Given the description of an element on the screen output the (x, y) to click on. 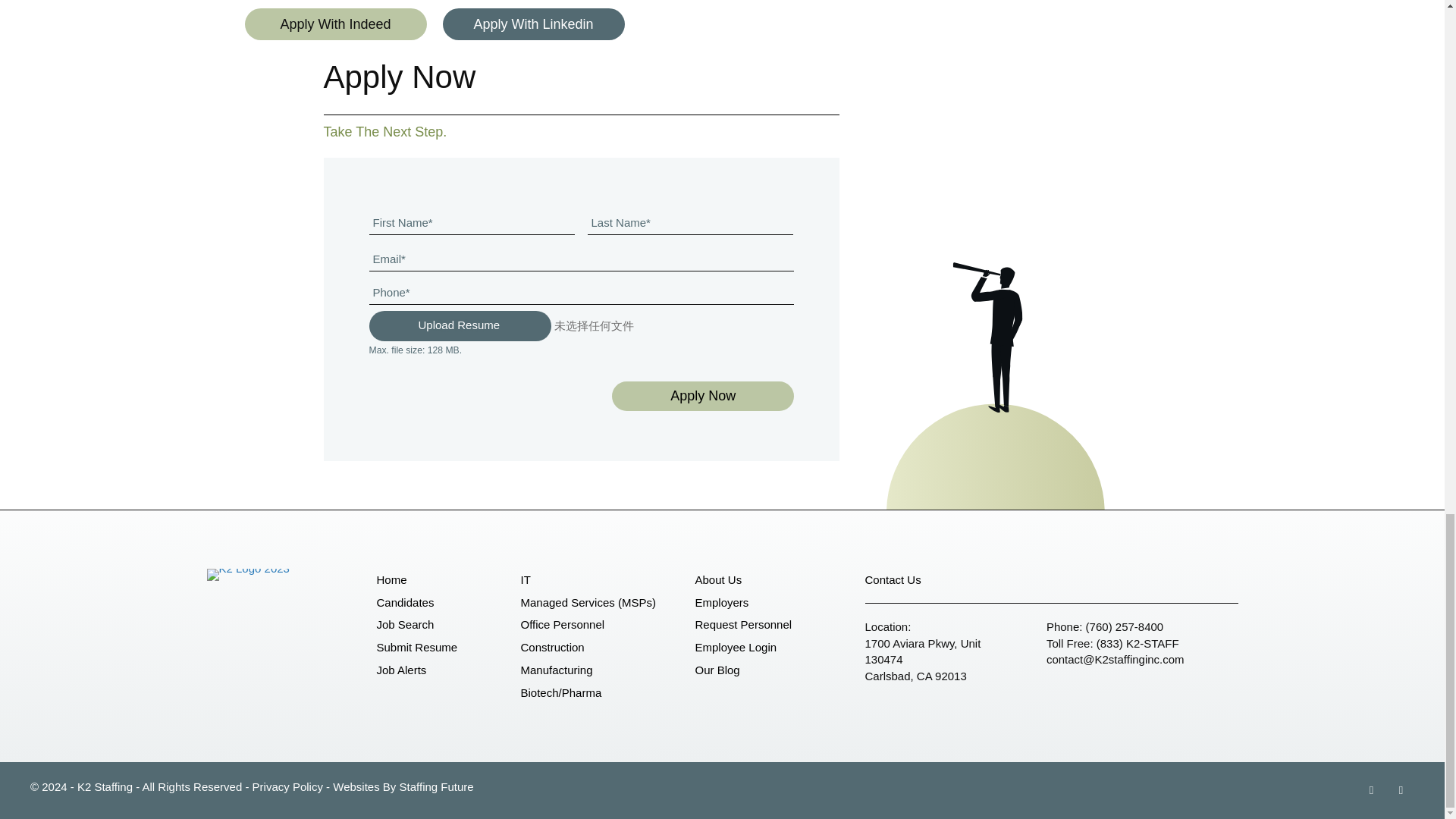
Apply With Linkedin (533, 23)
K2 Logo 2023 (247, 574)
Contact Us (892, 579)
Job Details - Right Column Image (994, 374)
Apply Now (702, 396)
Apply With Indeed (335, 23)
